Given the description of an element on the screen output the (x, y) to click on. 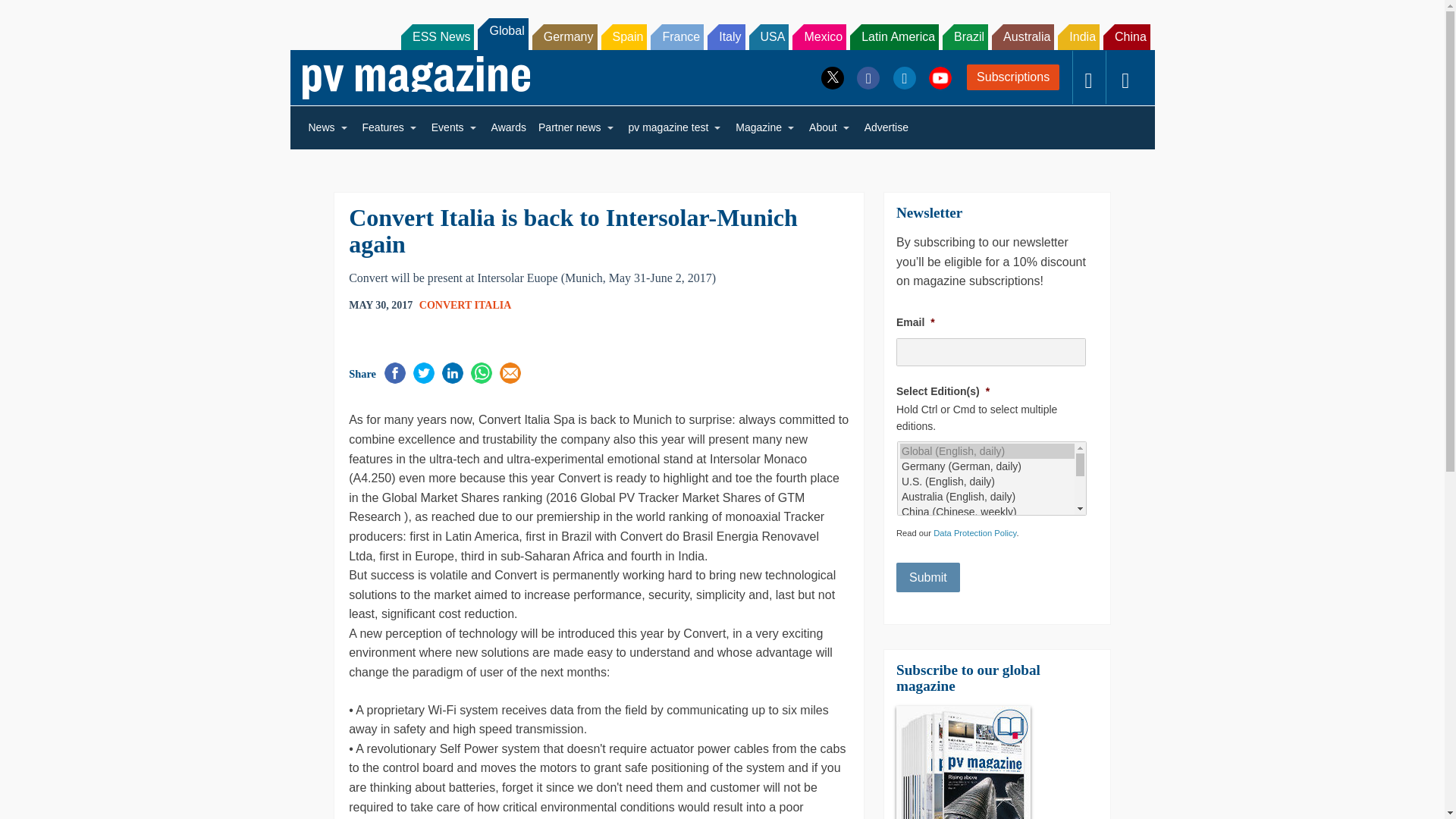
Italy (725, 36)
Tuesday, May 30, 2017, 3:46 pm (380, 305)
Subscriptions (1012, 77)
Latin America (894, 36)
France (676, 36)
Global (502, 33)
India (1078, 36)
Brazil (965, 36)
Search (32, 15)
pv magazine - Photovoltaics Markets and Technology (415, 77)
